Given the description of an element on the screen output the (x, y) to click on. 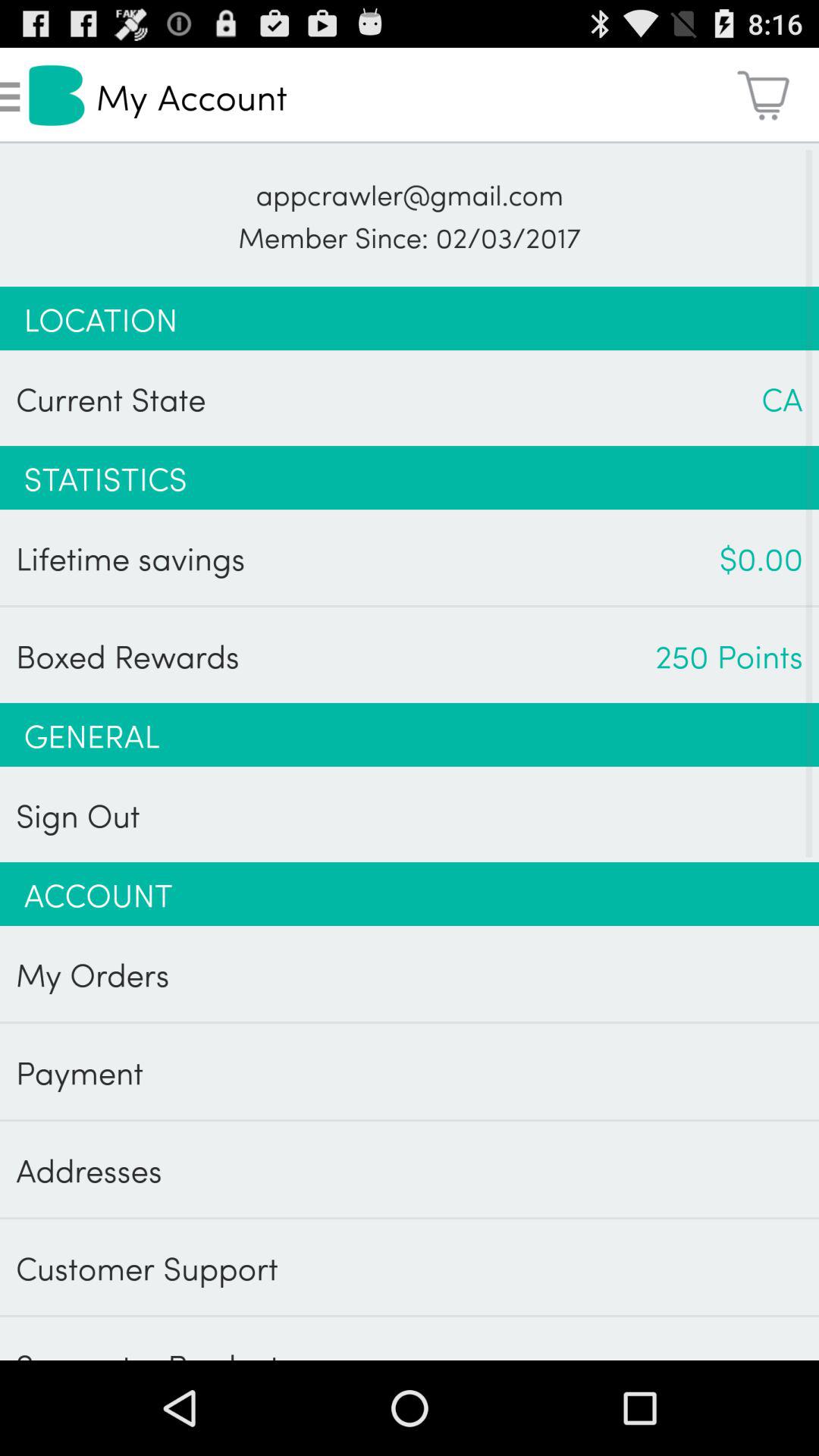
choose the app below the current state app (409, 477)
